Given the description of an element on the screen output the (x, y) to click on. 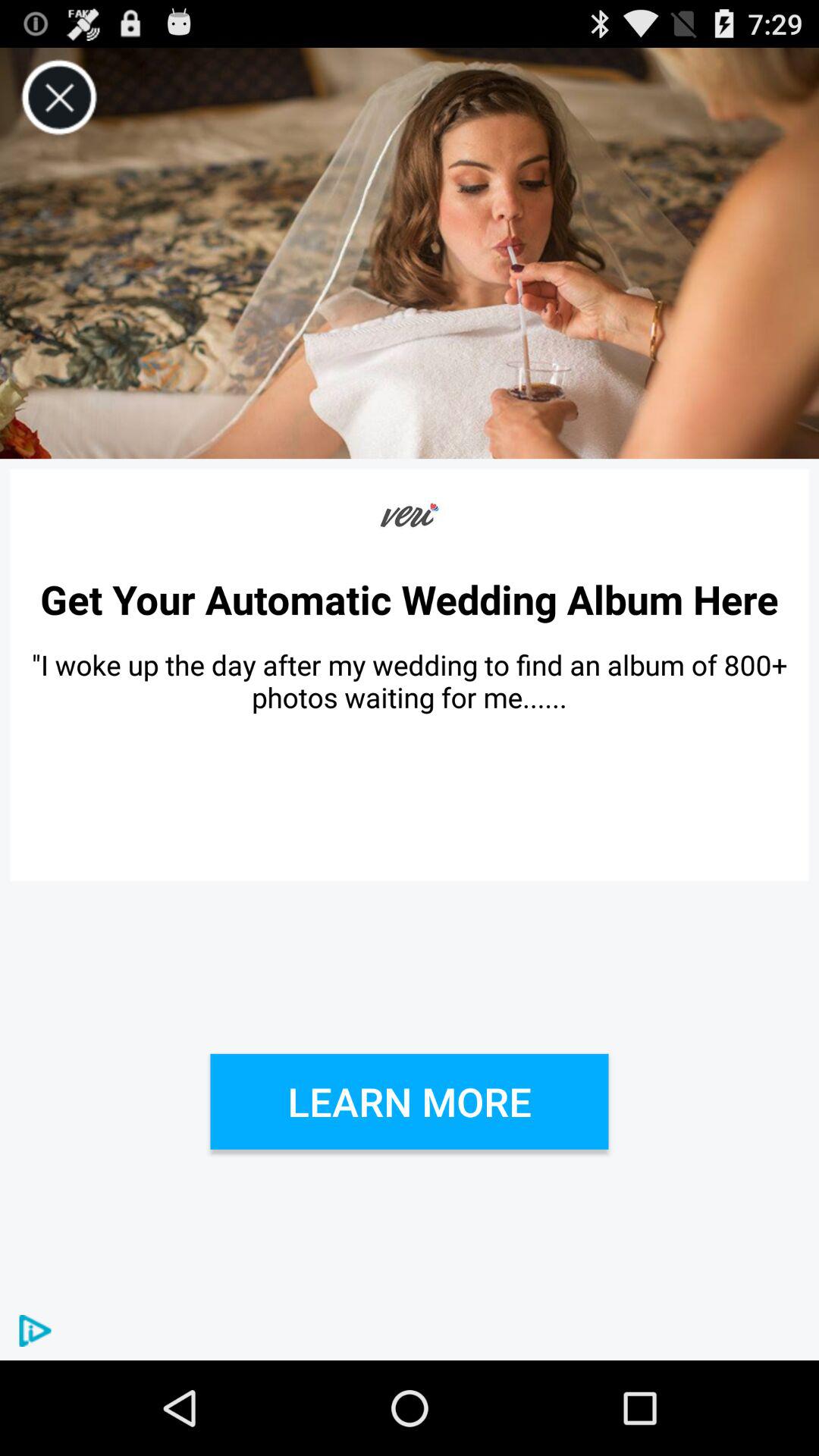
choose i woke up (409, 680)
